Given the description of an element on the screen output the (x, y) to click on. 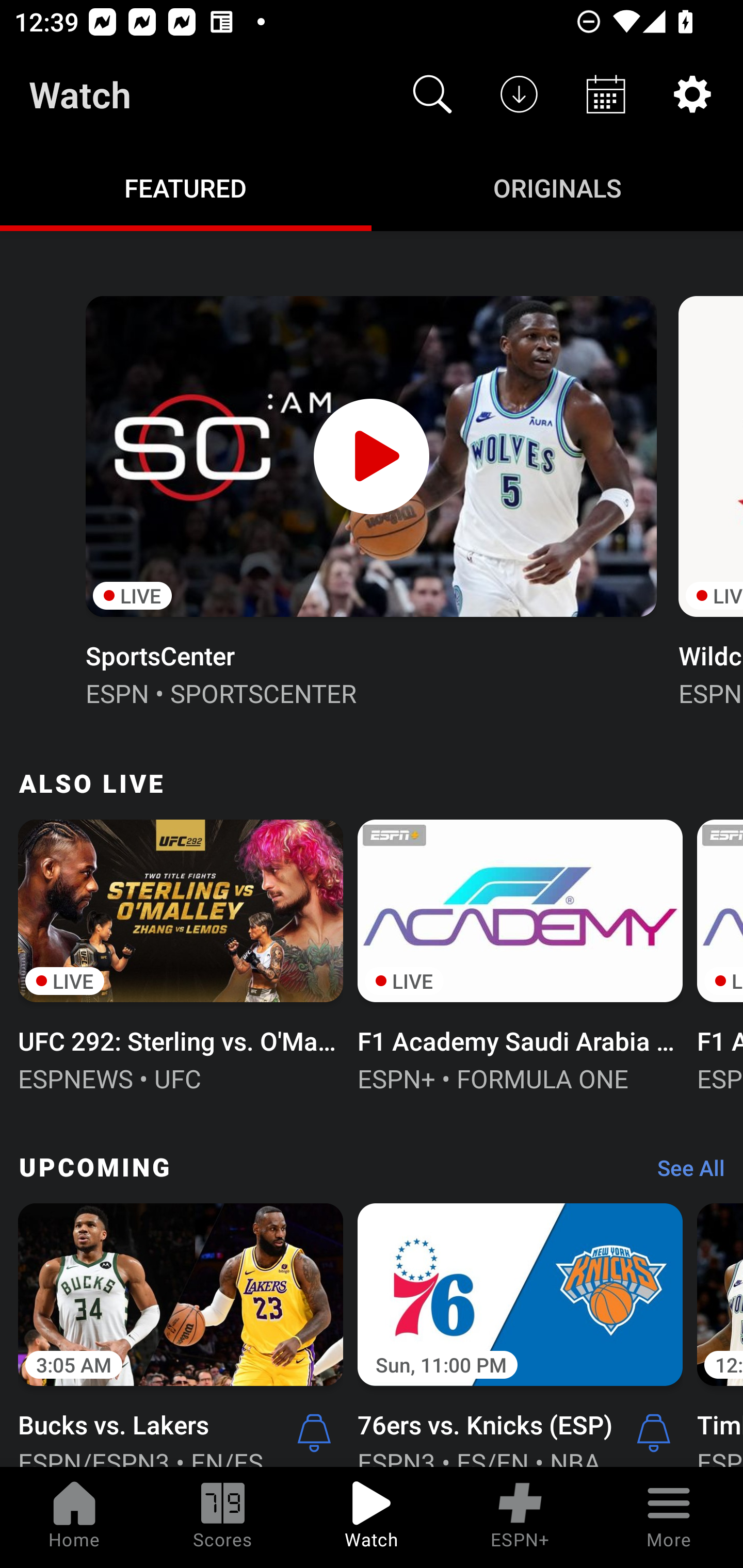
Search (432, 93)
Downloads (518, 93)
Schedule (605, 93)
Settings (692, 93)
Originals ORIGINALS (557, 187)
 LIVE SportsCenter ESPN • SPORTSCENTER (370, 499)
LIVE UFC 292: Sterling vs. O'Malley ESPNEWS • UFC (180, 954)
See All (683, 1172)
Alerts (314, 1432)
Alerts (653, 1432)
Home (74, 1517)
Scores (222, 1517)
ESPN+ (519, 1517)
More (668, 1517)
